Given the description of an element on the screen output the (x, y) to click on. 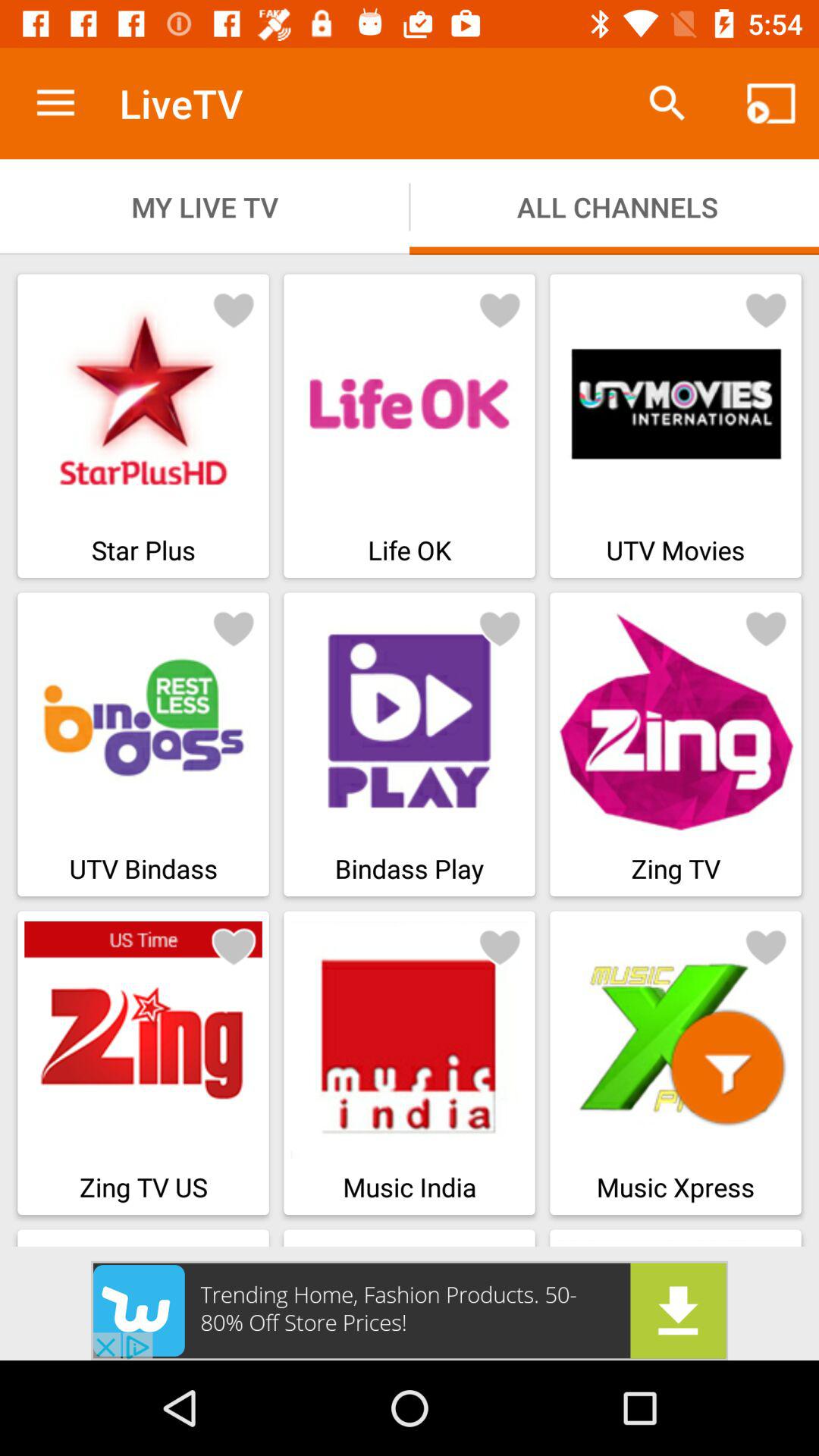
control volume (727, 1067)
